Given the description of an element on the screen output the (x, y) to click on. 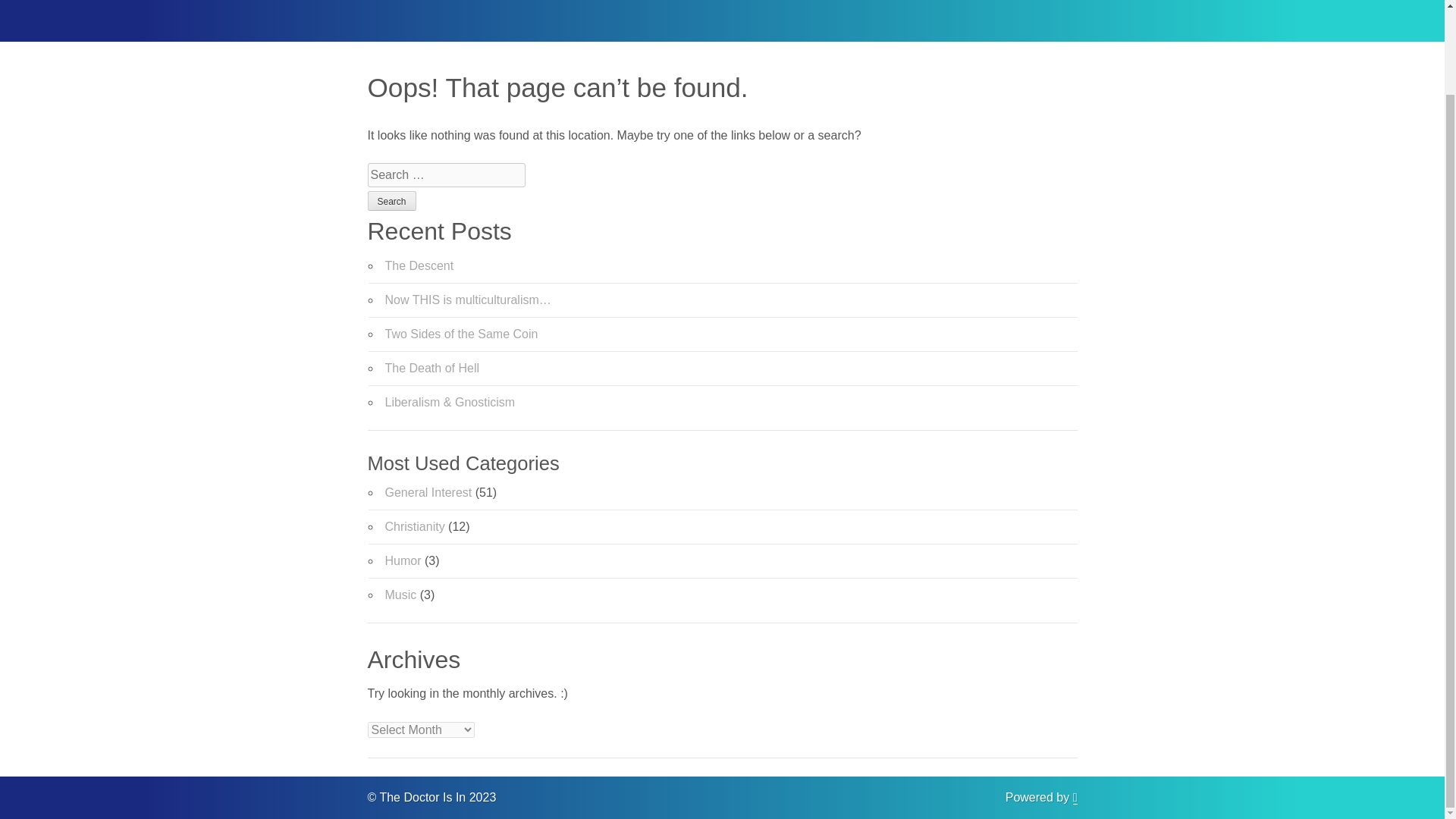
Search (390, 200)
The Descent (419, 265)
The Death of Hell (432, 367)
Search (390, 200)
Christianity (415, 526)
Music (400, 594)
Two Sides of the Same Coin (461, 333)
Search (390, 200)
General Interest (428, 492)
Humor (403, 560)
